Given the description of an element on the screen output the (x, y) to click on. 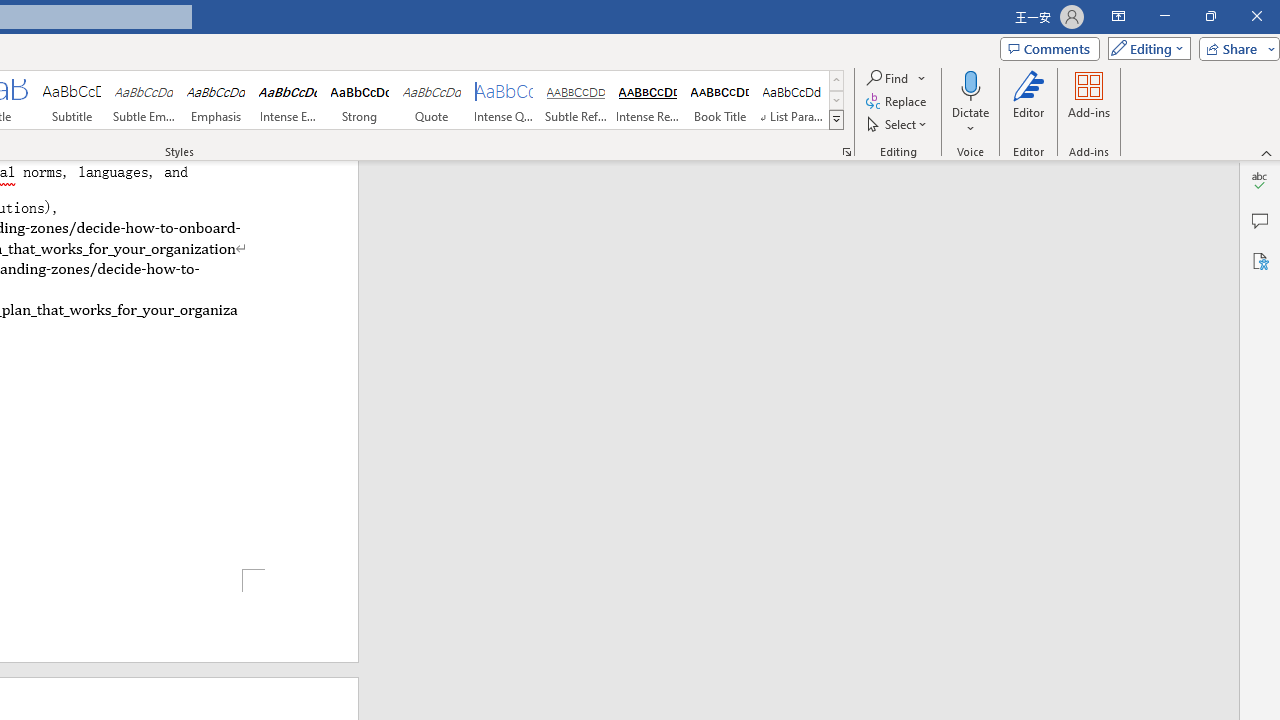
Emphasis (216, 100)
Select (898, 124)
Editing (1144, 47)
Subtle Emphasis (143, 100)
Intense Reference (647, 100)
